Given the description of an element on the screen output the (x, y) to click on. 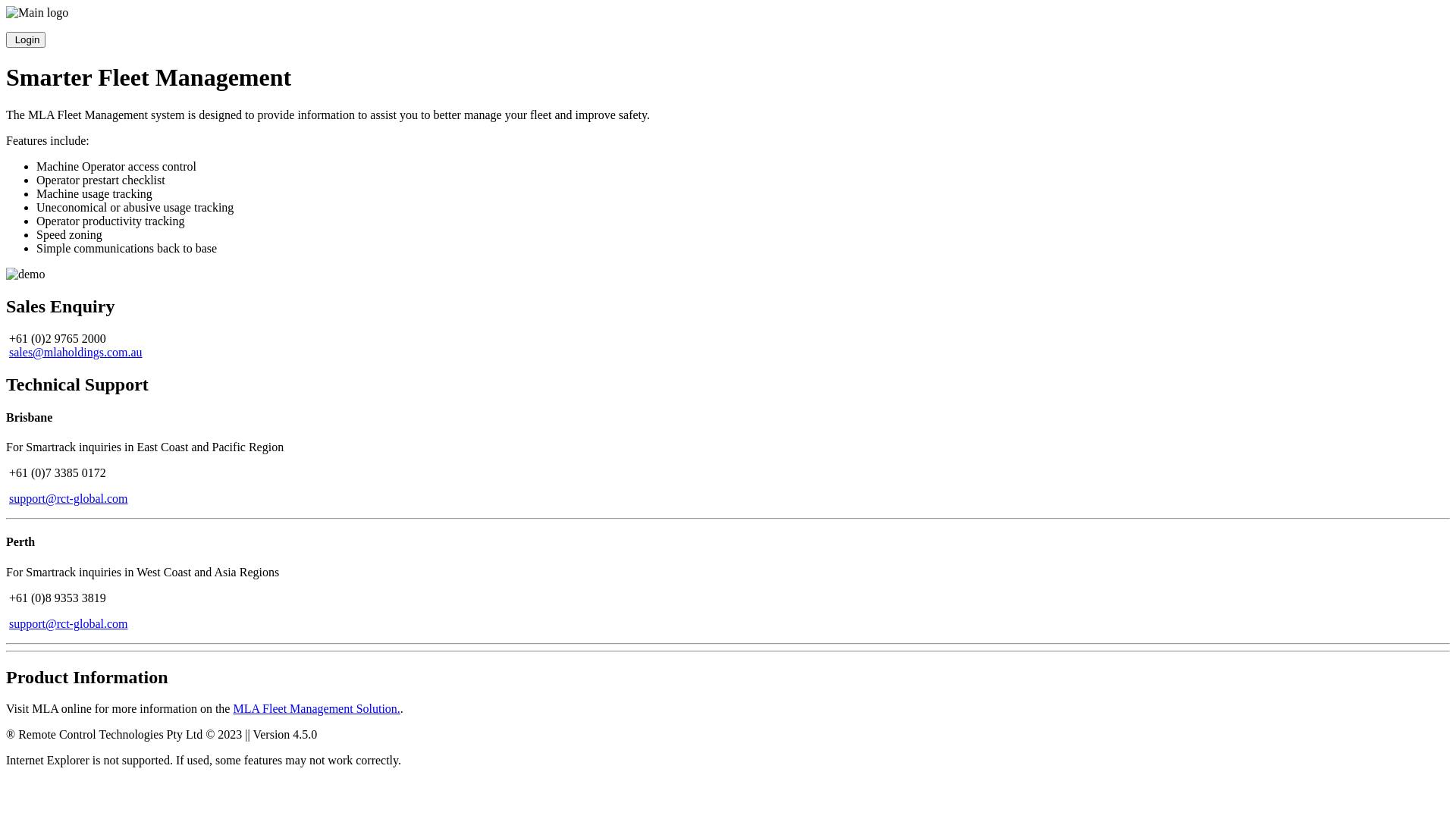
 Login Element type: text (25, 39)
MLA Fleet Management Solution. Element type: text (315, 708)
support@rct-global.com Element type: text (68, 498)
sales@mlaholdings.com.au Element type: text (75, 351)
support@rct-global.com Element type: text (68, 623)
